Given the description of an element on the screen output the (x, y) to click on. 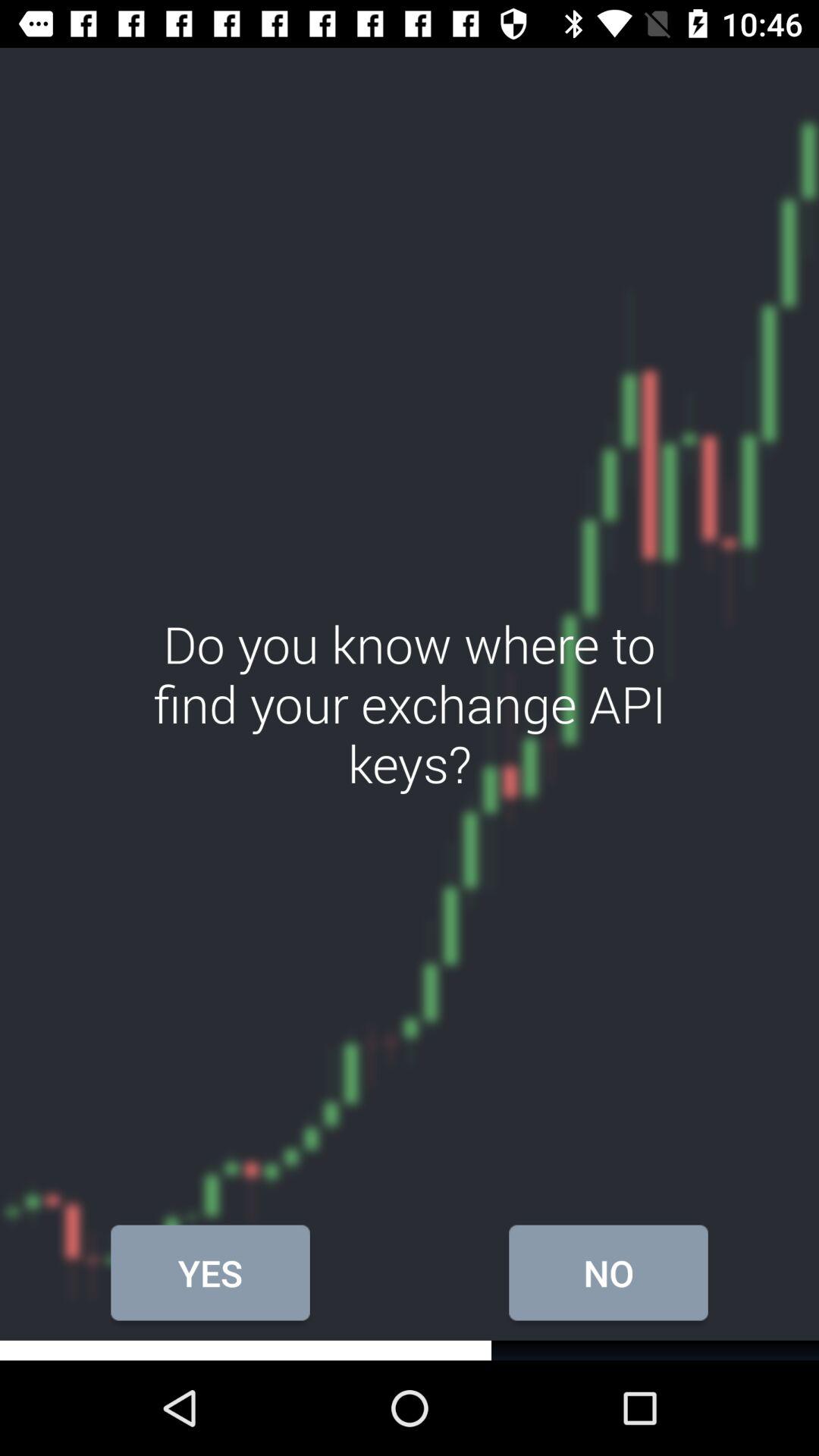
press yes (209, 1272)
